Given the description of an element on the screen output the (x, y) to click on. 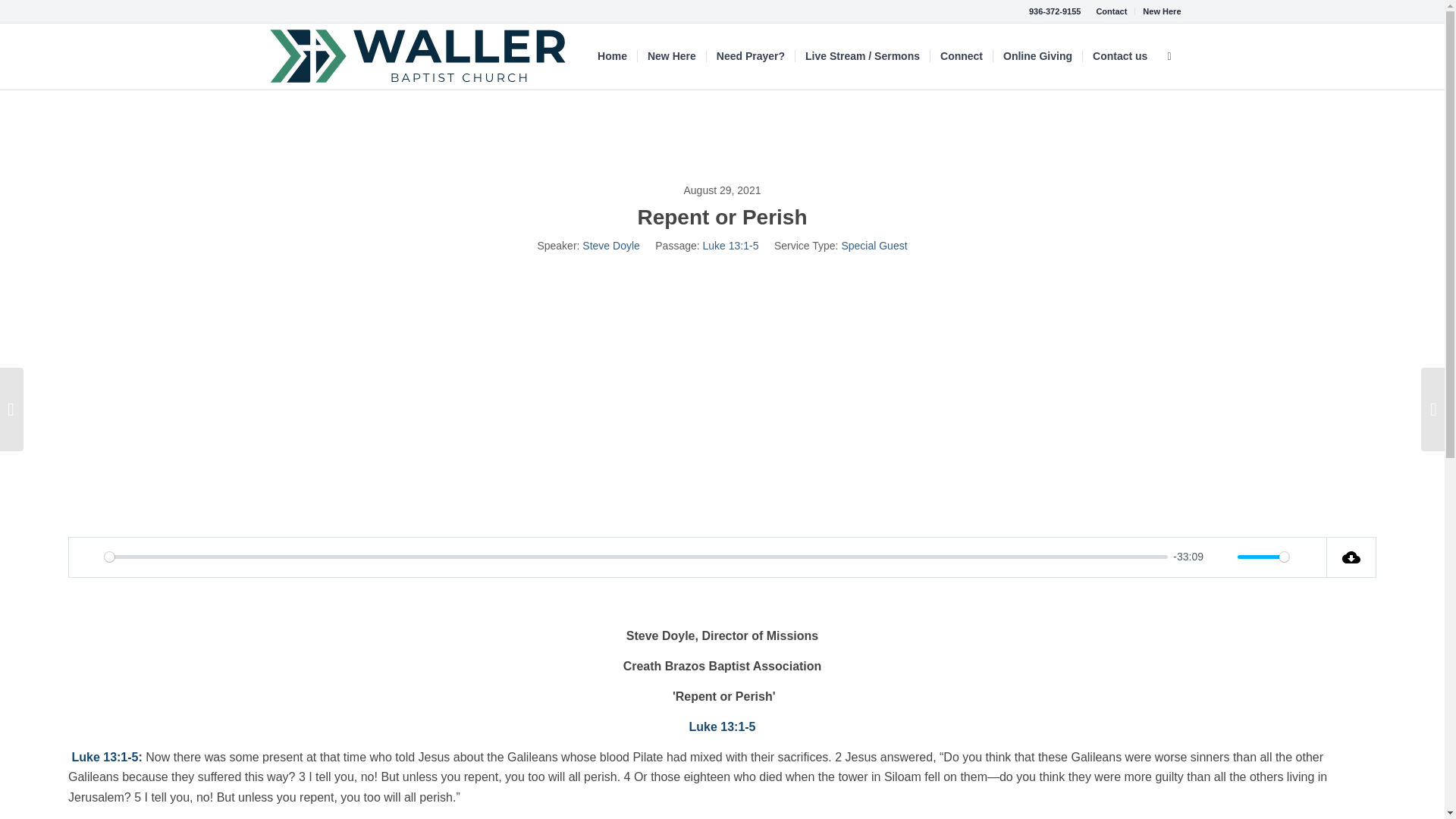
Contact (1111, 11)
Play (88, 557)
936-372-9155 (1055, 10)
Luke 13:1-5 (721, 726)
Special Guest (874, 245)
Mute (1220, 557)
Luke 13:1-5 (104, 757)
Steve Doyle (610, 245)
Online Giving (1036, 55)
Connect (961, 55)
0 (635, 556)
New Here (671, 55)
Contact us (1119, 55)
Need Prayer? (750, 55)
Luke 13:1-5 (730, 245)
